Given the description of an element on the screen output the (x, y) to click on. 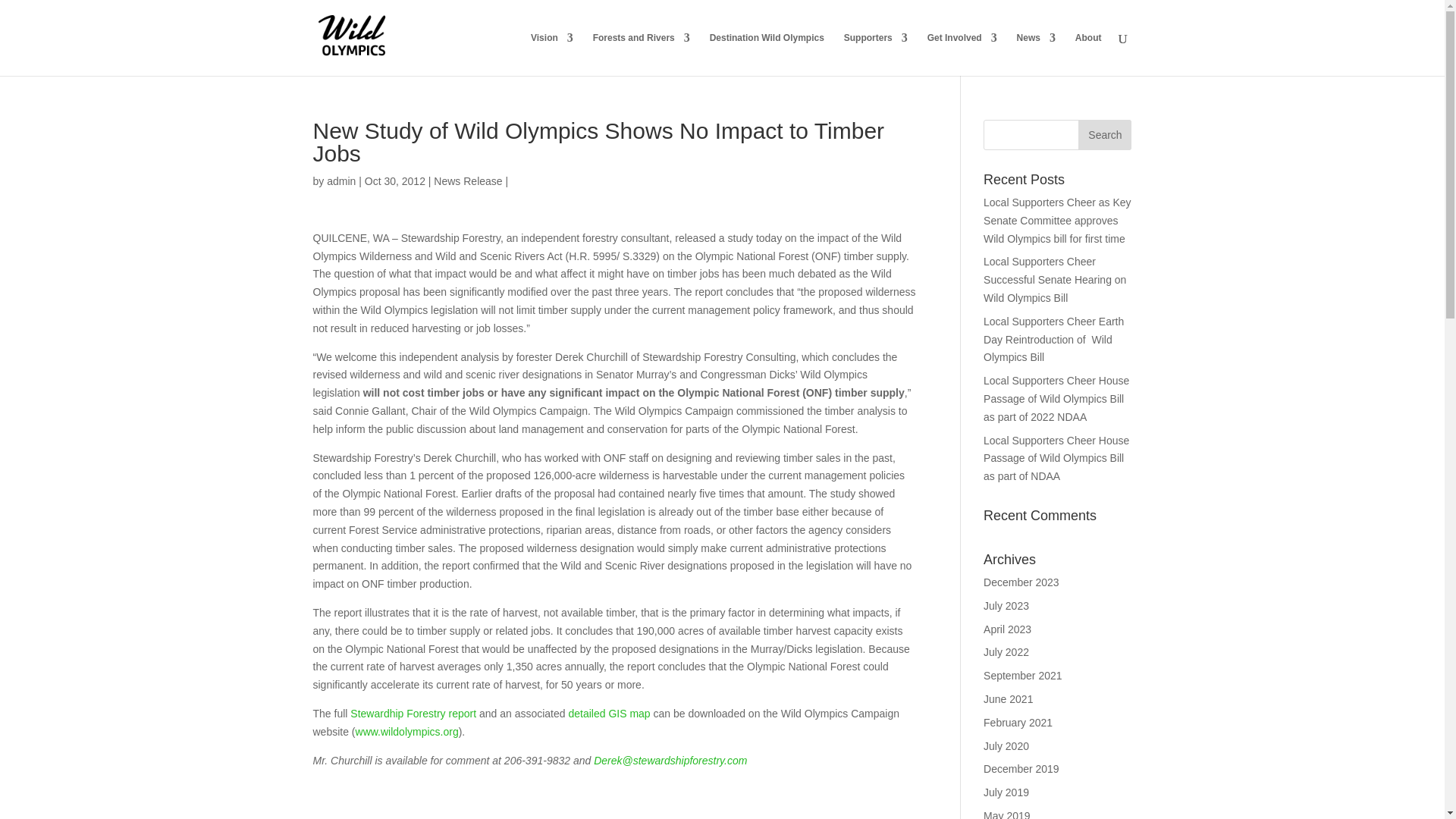
Vision (552, 54)
Search (1104, 134)
Destination Wild Olympics (767, 54)
Forests and Rivers (641, 54)
Posts by admin (340, 181)
Supporters (875, 54)
Get Involved (962, 54)
News (1035, 54)
